Given the description of an element on the screen output the (x, y) to click on. 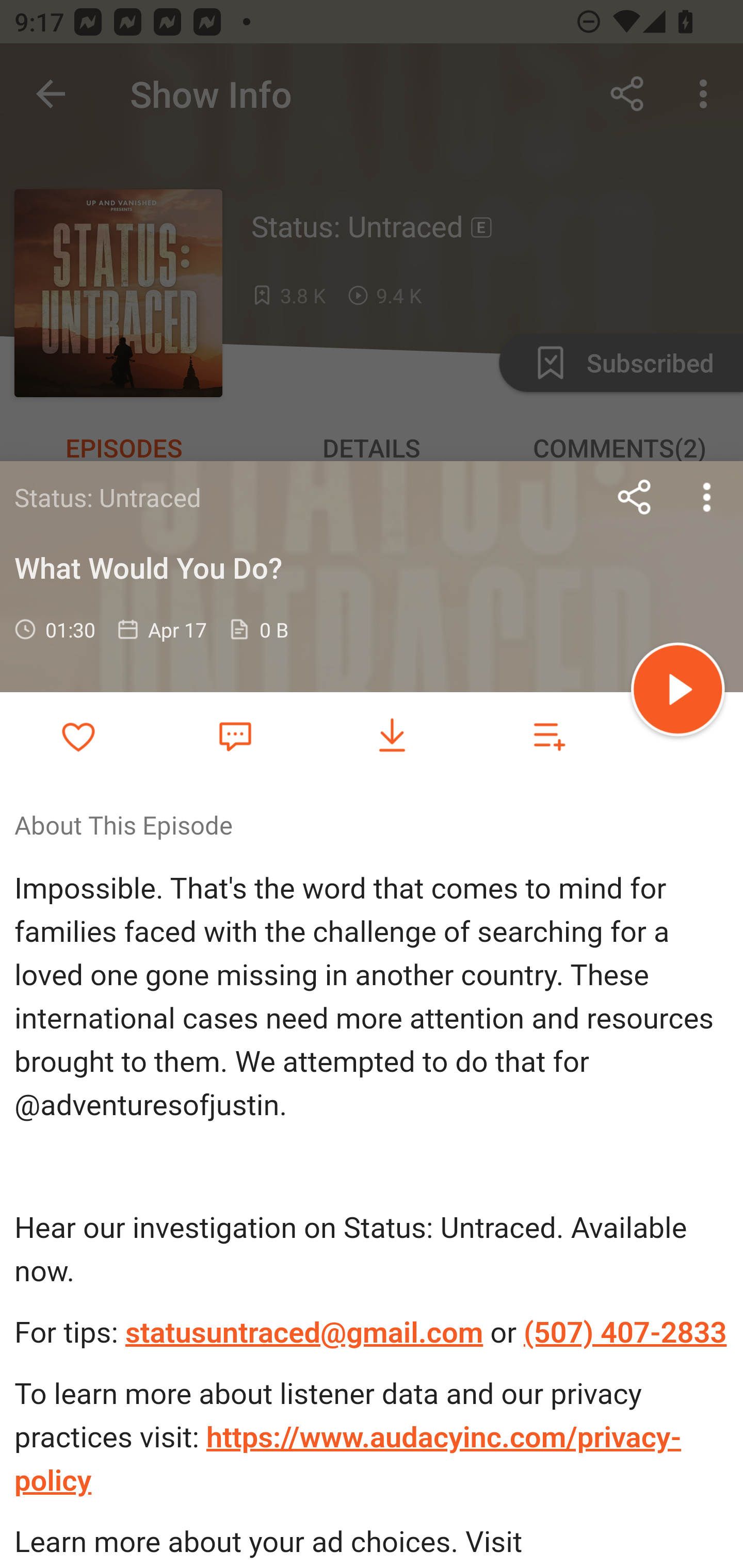
Share (634, 496)
more options (706, 496)
Play (677, 692)
Favorite (234, 735)
Add to Favorites (78, 735)
Download (391, 735)
Add to playlist (548, 735)
statusuntraced@gmail.com (303, 1332)
(507) 407-2833 (625, 1332)
https://www.audacyinc.com/privacy-policy (348, 1459)
